Given the description of an element on the screen output the (x, y) to click on. 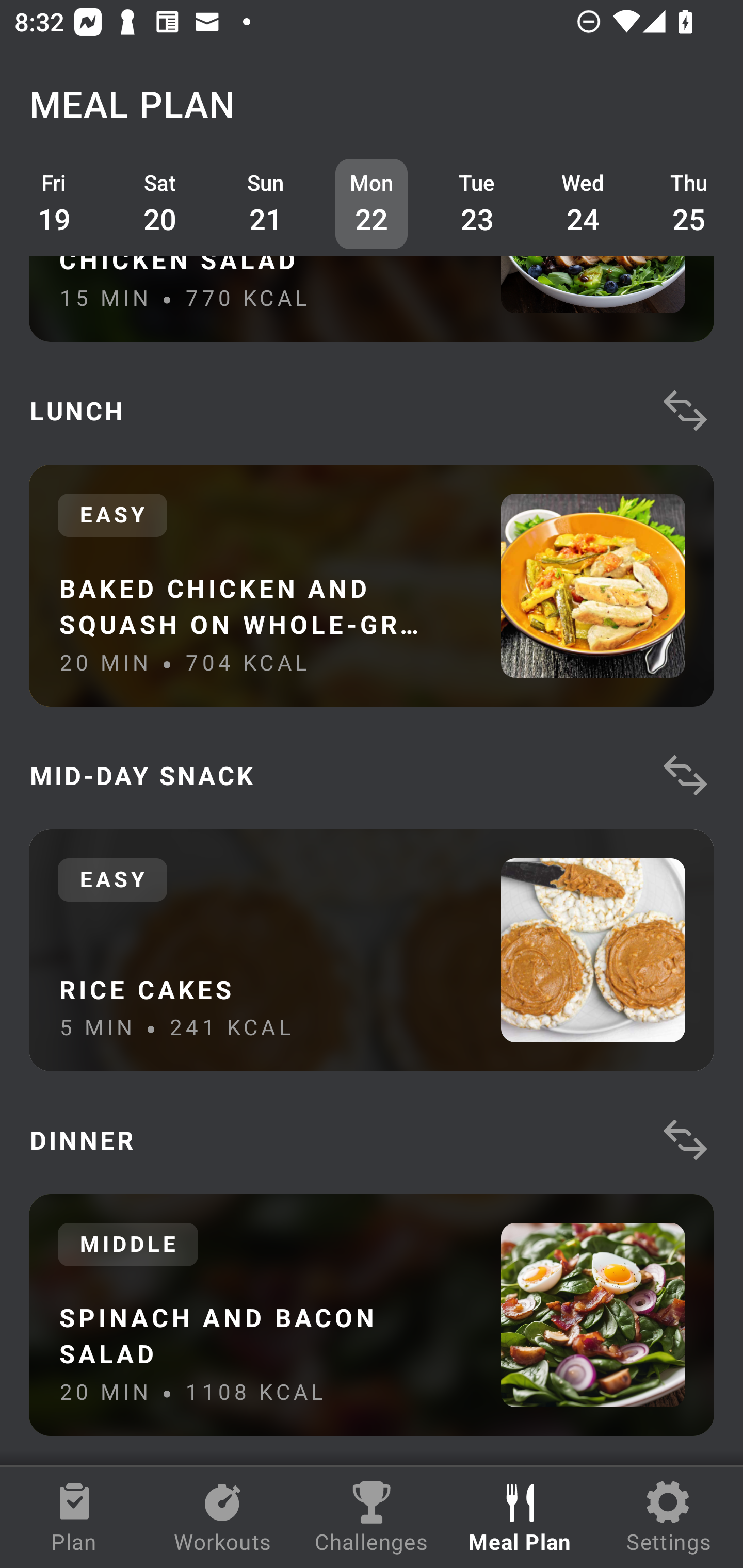
Fri 19 (53, 203)
Sat 20 (159, 203)
Sun 21 (265, 203)
Mon 22 (371, 203)
Tue 23 (477, 203)
Wed 24 (583, 203)
Thu 25 (689, 203)
BLUEBERRY BALSAMIC CHICKEN SALAD 15 MIN • 770 KCAL (371, 298)
EASY RICE CAKES 5 MIN • 241 KCAL (371, 949)
MIDDLE SPINACH AND BACON SALAD 20 MIN • 1108 KCAL (371, 1315)
 Plan  (74, 1517)
 Workouts  (222, 1517)
 Challenges  (371, 1517)
 Settings  (668, 1517)
